Given the description of an element on the screen output the (x, y) to click on. 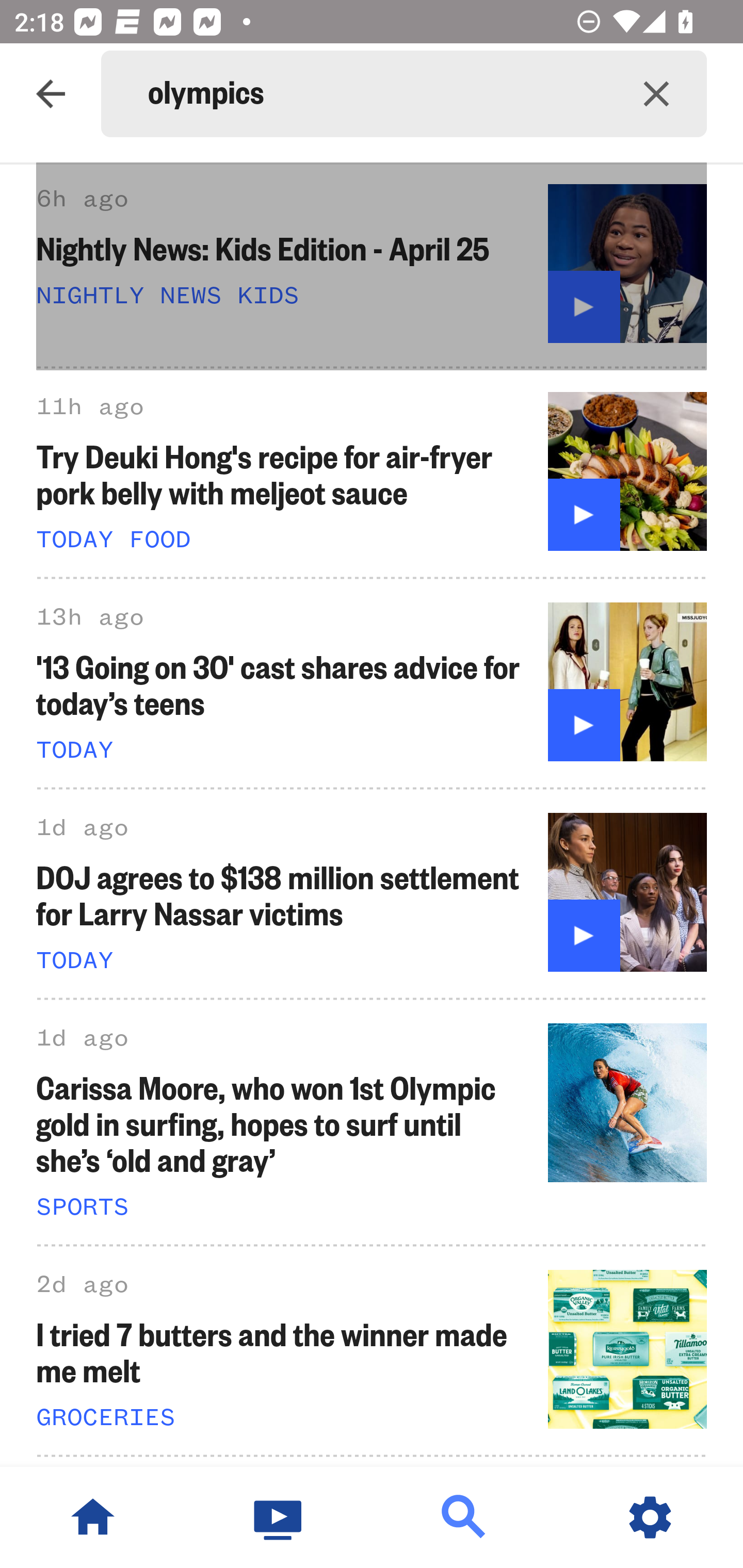
Navigate up (50, 93)
Clear query (656, 93)
olympics (376, 94)
NBC News Home (92, 1517)
Watch (278, 1517)
Settings (650, 1517)
